Given the description of an element on the screen output the (x, y) to click on. 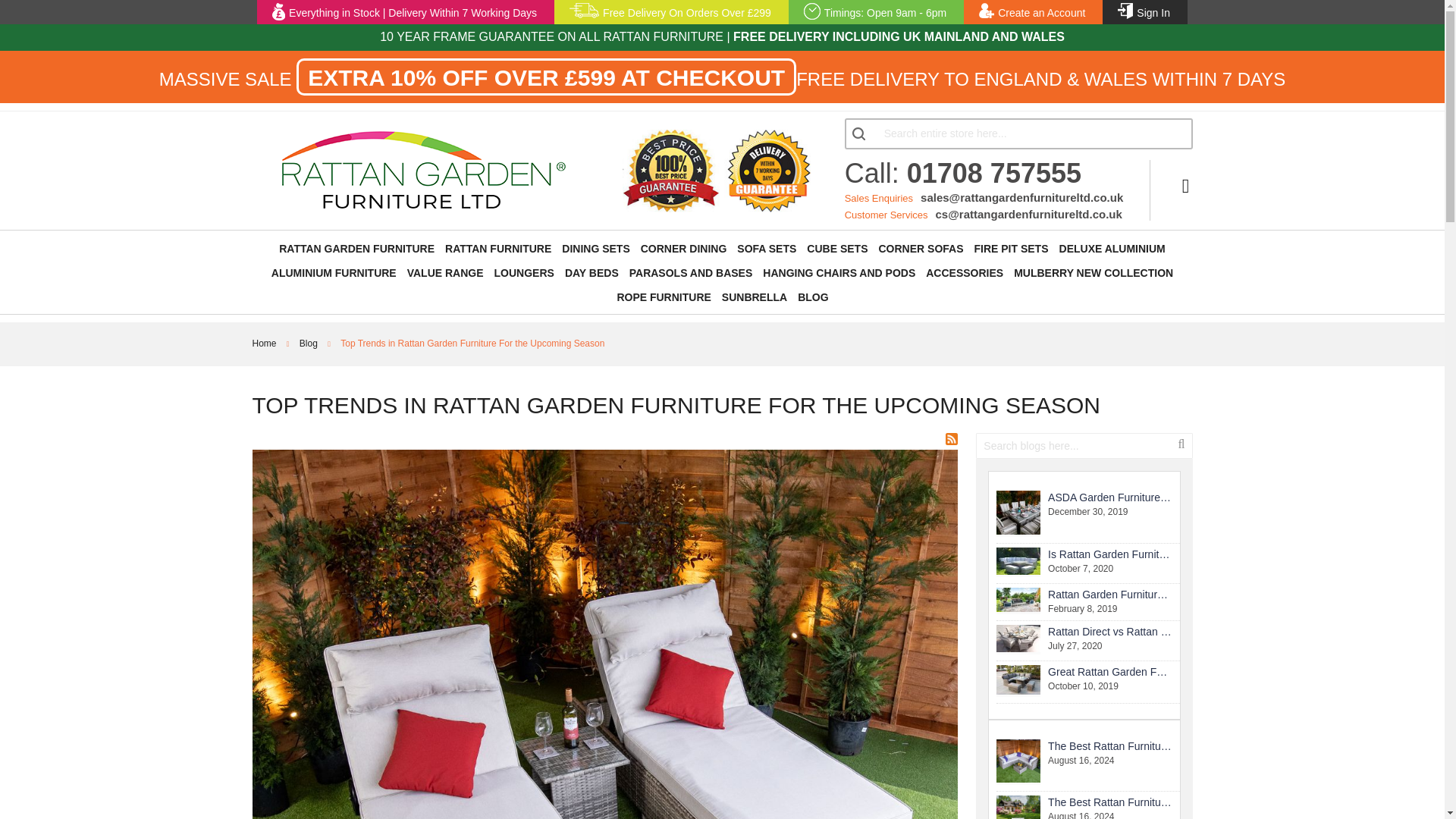
Go to Home Page (264, 343)
RATTAN FURNITURE (498, 248)
Blog (309, 343)
DINING SETS (595, 247)
Rattan Garden Furniture Ltd. (423, 169)
SOFA SETS (766, 247)
CORNER DINING (684, 247)
RATTAN GARDEN FURNITURE (357, 248)
CUBE SETS (837, 247)
Search (860, 133)
